Given the description of an element on the screen output the (x, y) to click on. 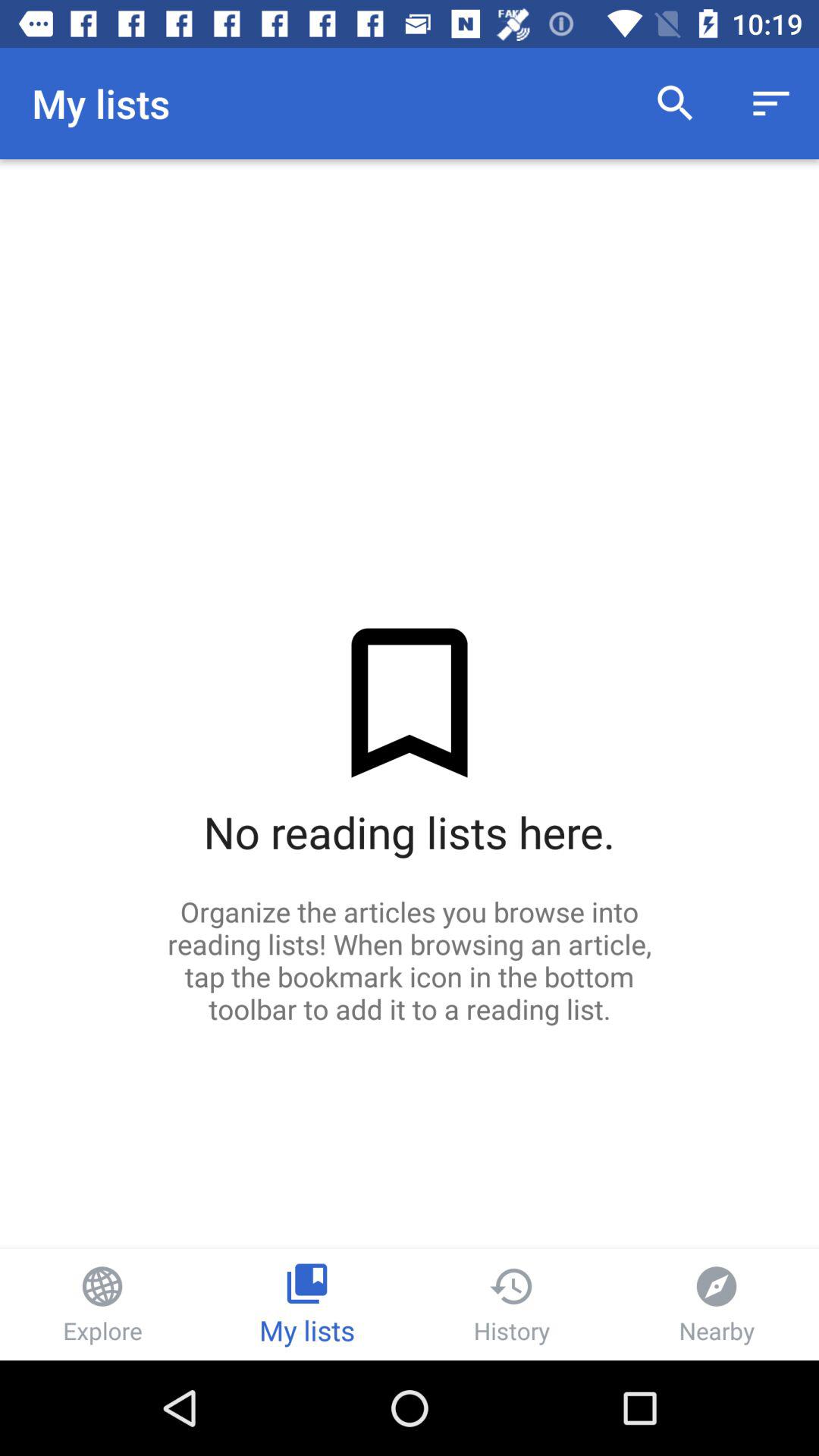
choose the item next to the my lists icon (675, 103)
